Given the description of an element on the screen output the (x, y) to click on. 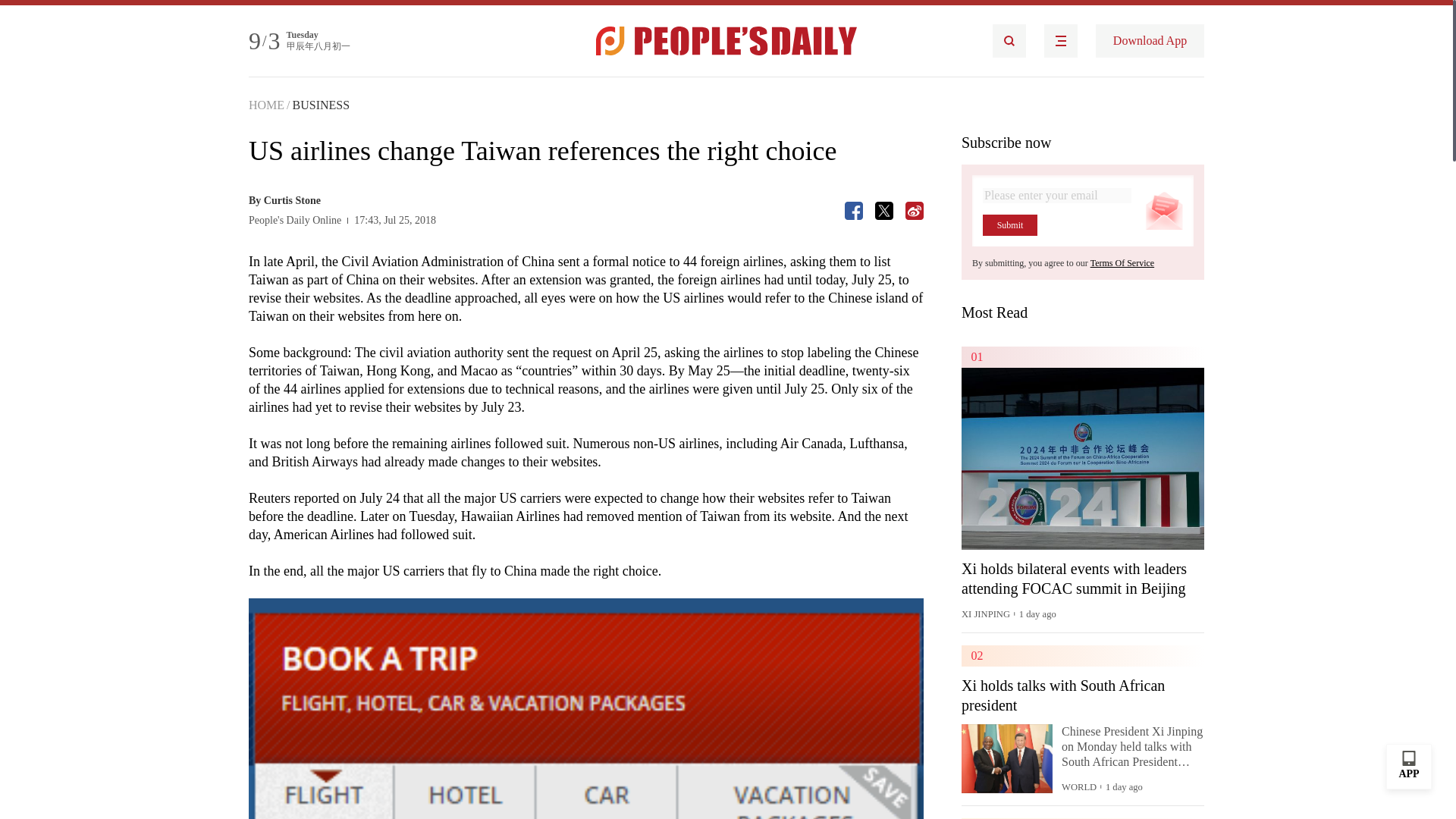
Download App (1150, 40)
Terms Of Service (1122, 262)
HOME (265, 105)
